Given the description of an element on the screen output the (x, y) to click on. 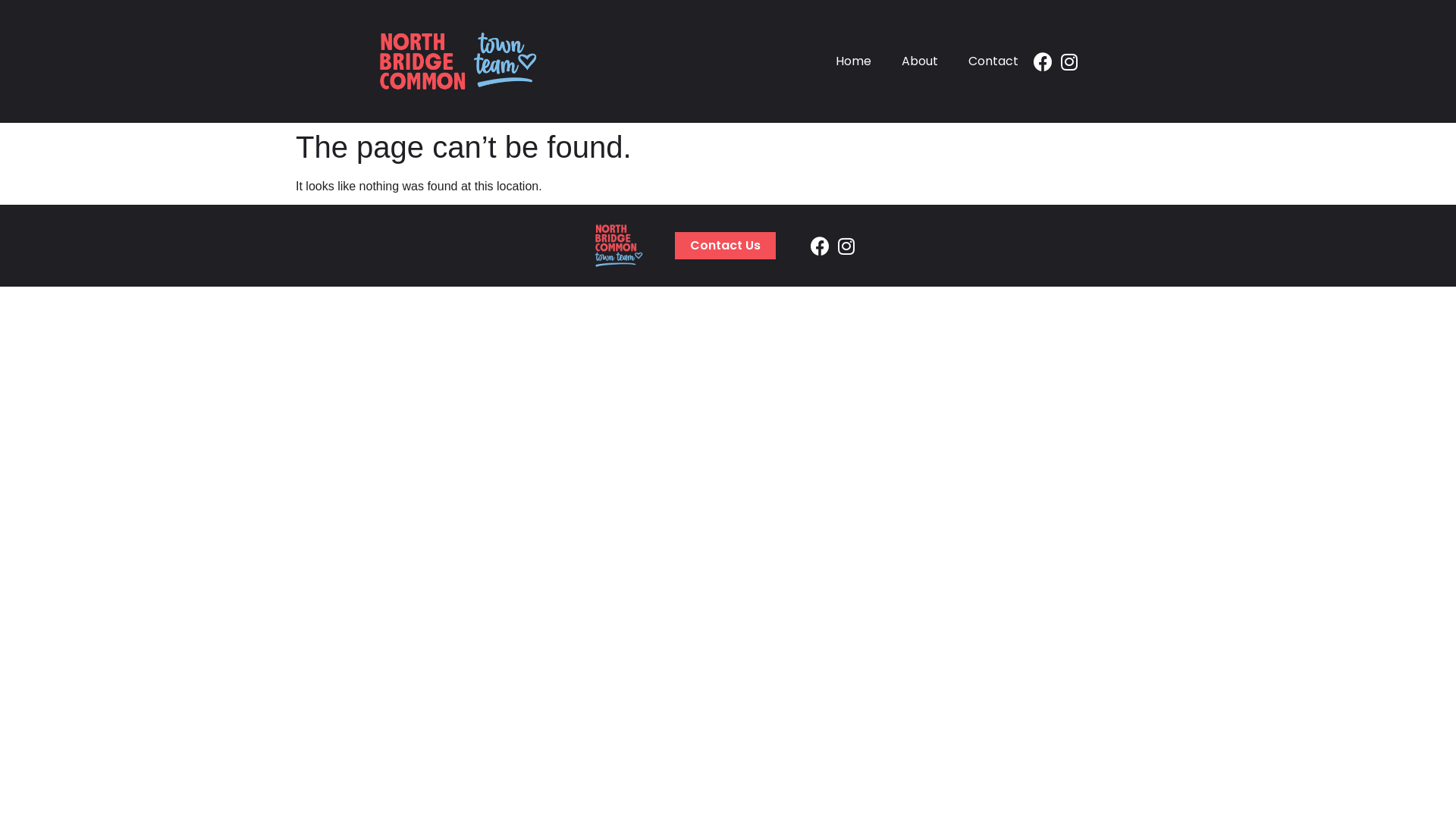
Contact Element type: text (993, 61)
Home Element type: text (853, 61)
About Element type: text (919, 61)
Contact Us Element type: text (724, 245)
